Given the description of an element on the screen output the (x, y) to click on. 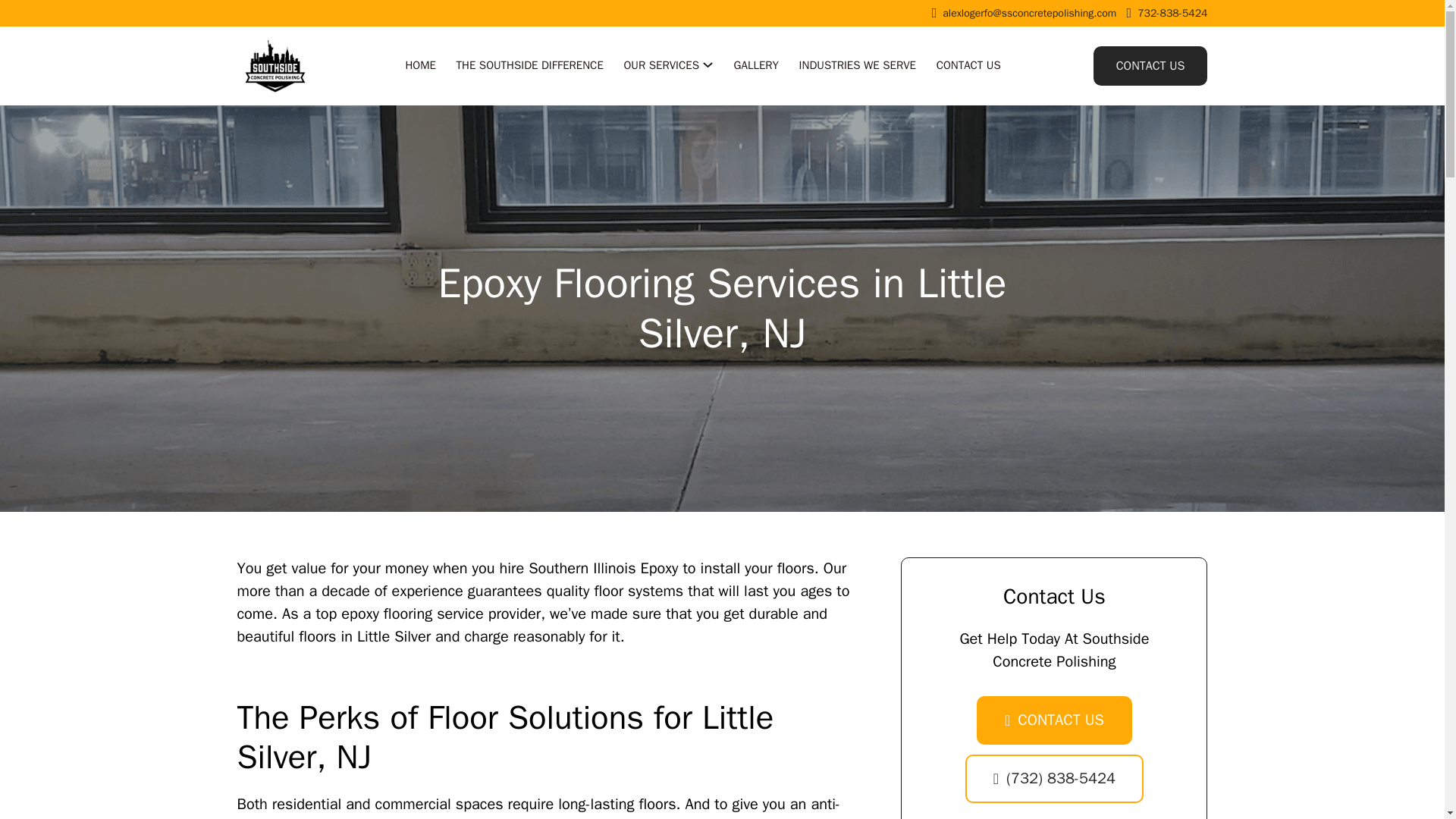
OUR SERVICES (660, 65)
HOME (419, 65)
Company Email Address (1029, 12)
732-838-5424 (1172, 12)
GALLERY (755, 65)
Contact Phone Number (1053, 778)
Go To Homepage (274, 65)
THE SOUTHSIDE DIFFERENCE (530, 65)
Contact Phone Number (1172, 12)
INDUSTRIES WE SERVE (857, 65)
CONTACT US (968, 65)
